Given the description of an element on the screen output the (x, y) to click on. 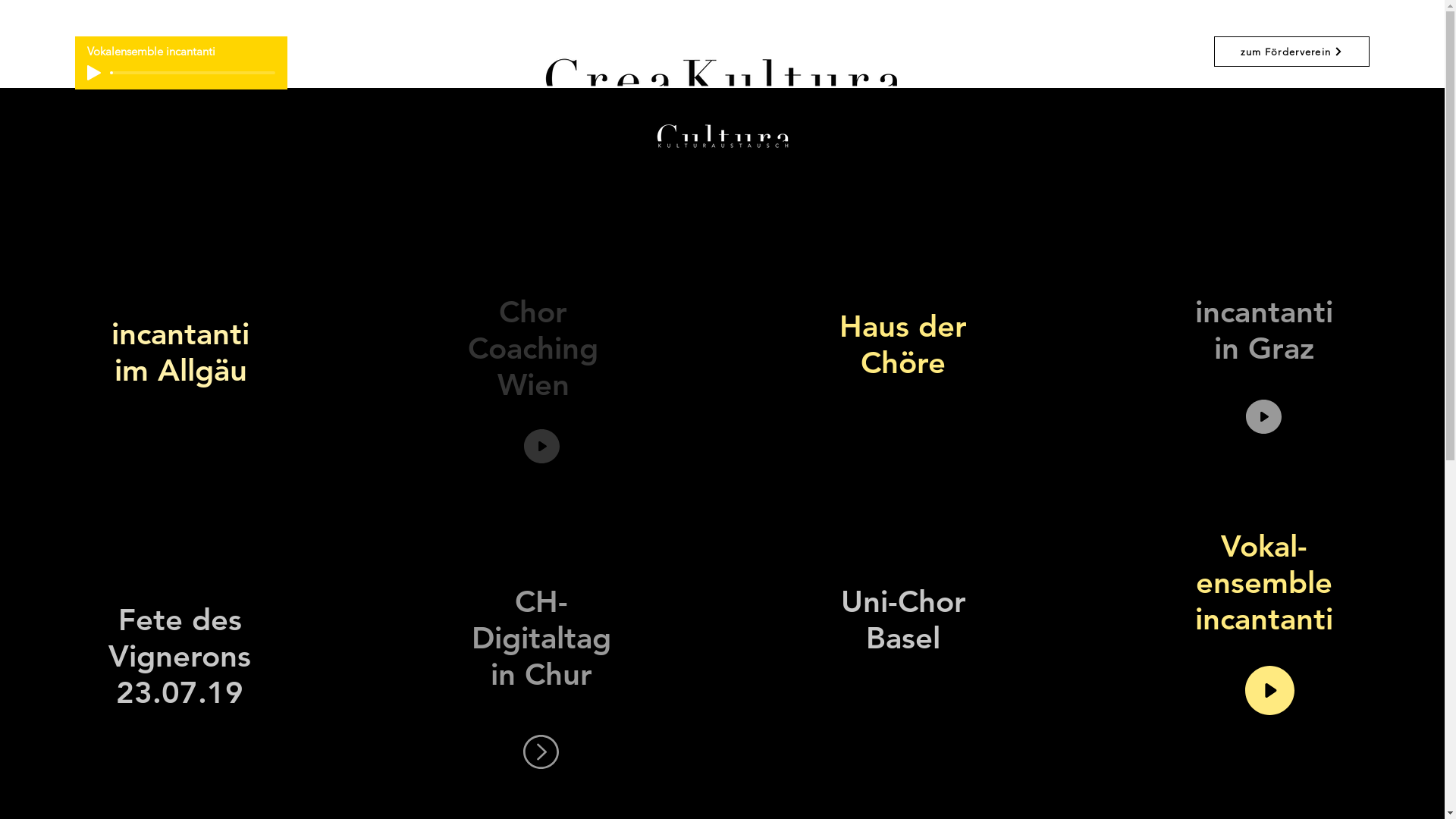
Angebot Element type: text (663, 125)
Downloads Element type: text (972, 125)
Medien Element type: text (765, 125)
Kontakt Element type: text (863, 125)
Home Element type: text (458, 125)
